Given the description of an element on the screen output the (x, y) to click on. 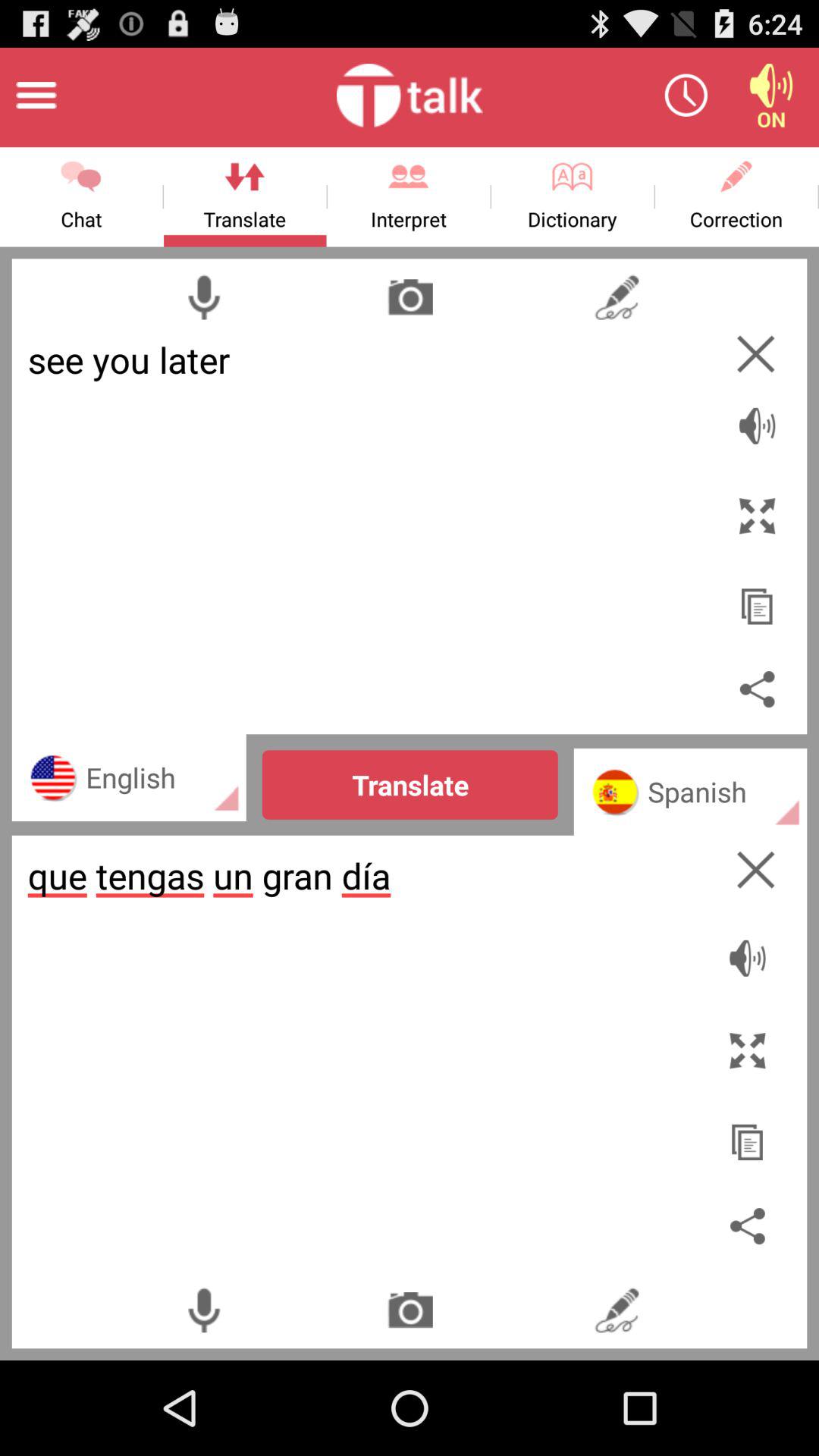
clear words (755, 353)
